Given the description of an element on the screen output the (x, y) to click on. 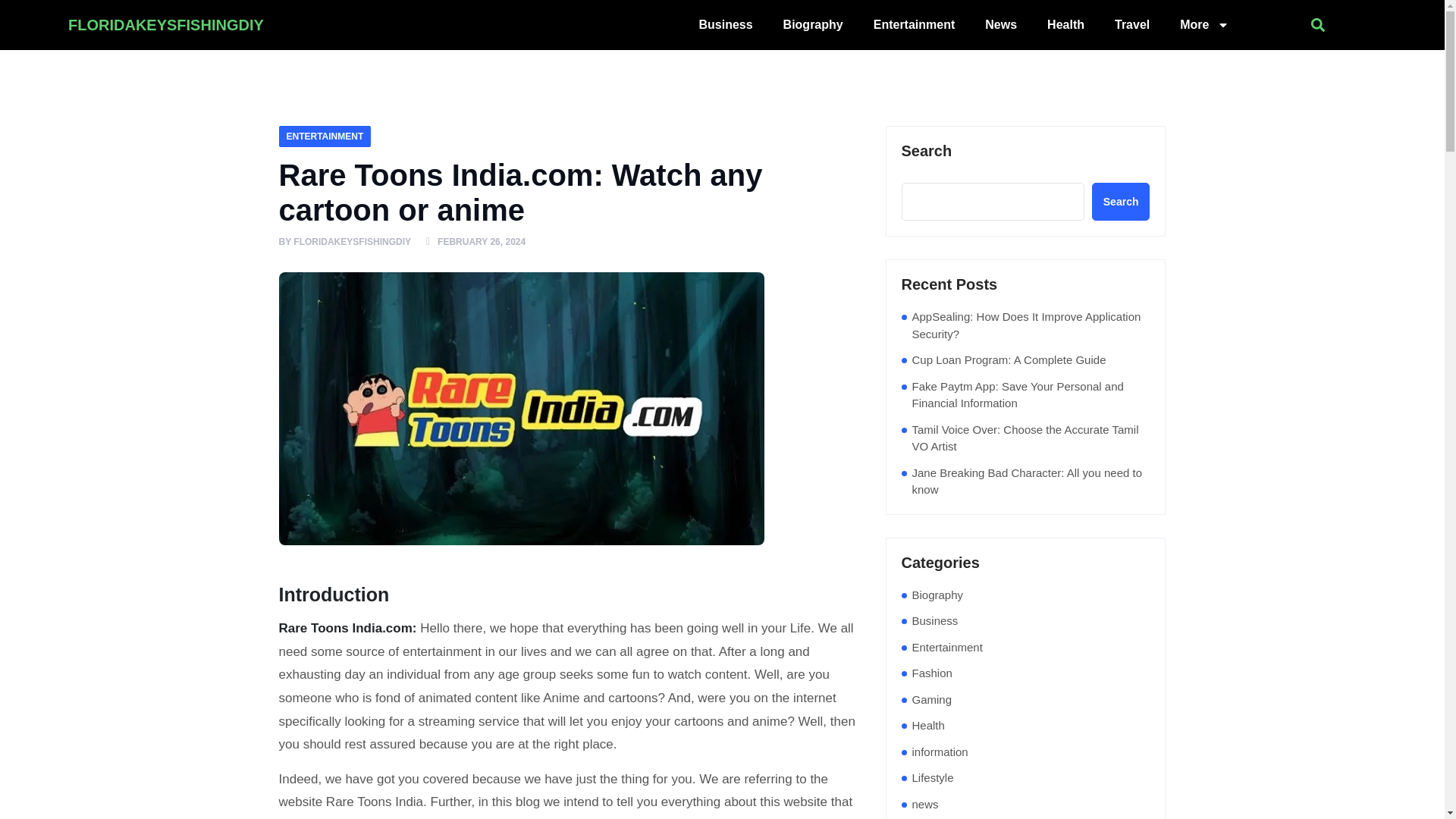
More (1203, 24)
Entertainment (915, 24)
Travel (1131, 24)
Health (1065, 24)
Business (724, 24)
FLORIDAKEYSFISHINGDIY (352, 242)
ENTERTAINMENT (325, 136)
News (1000, 24)
Biography (813, 24)
